Given the description of an element on the screen output the (x, y) to click on. 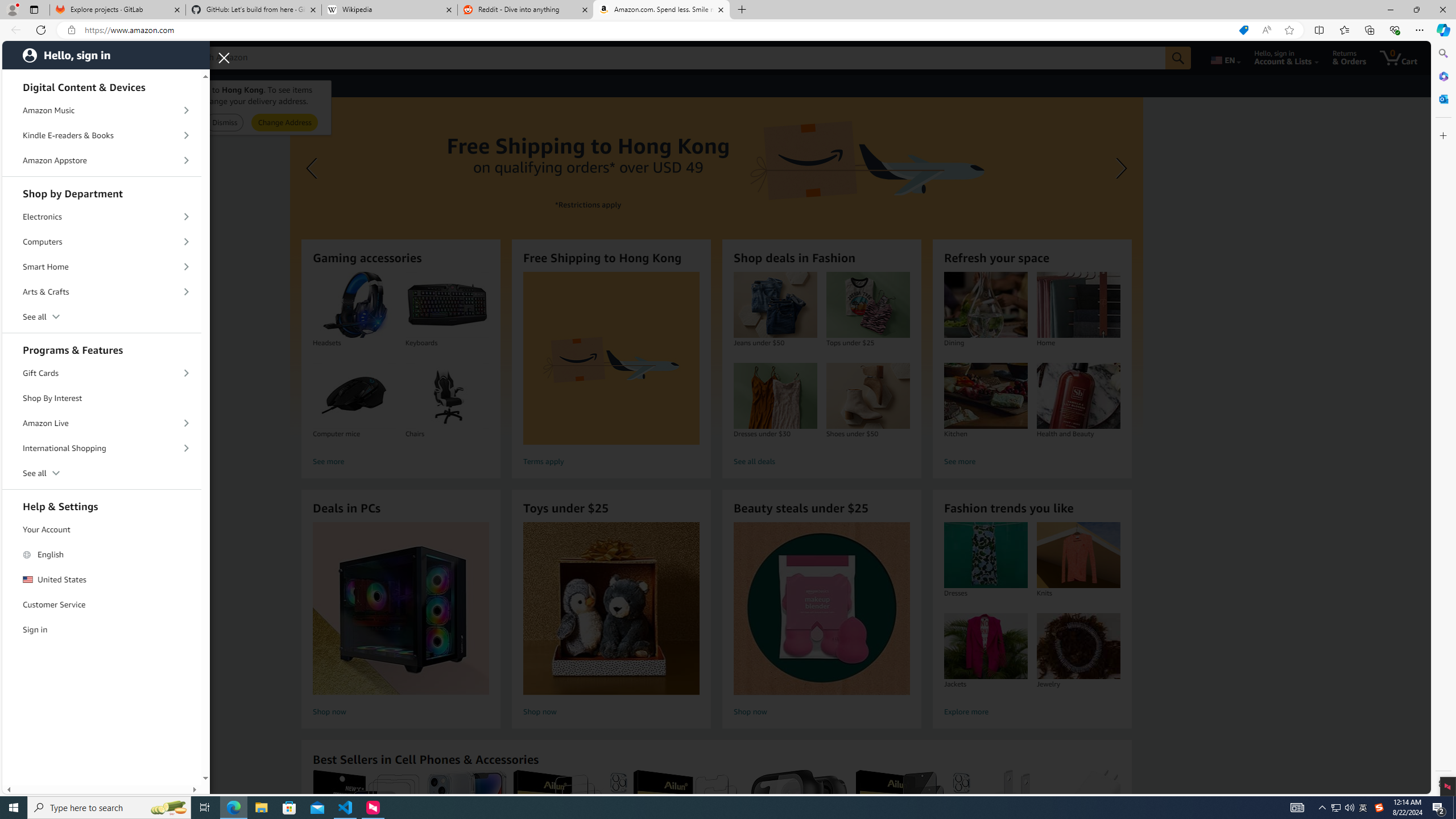
Shop By Interest (101, 398)
Reddit - Dive into anything (525, 9)
Your Account (101, 529)
Amazon Live (101, 423)
Help & Settings (101, 504)
Gift Cards (101, 372)
Amazon Appstore (101, 160)
Arts & Crafts (101, 291)
